Given the description of an element on the screen output the (x, y) to click on. 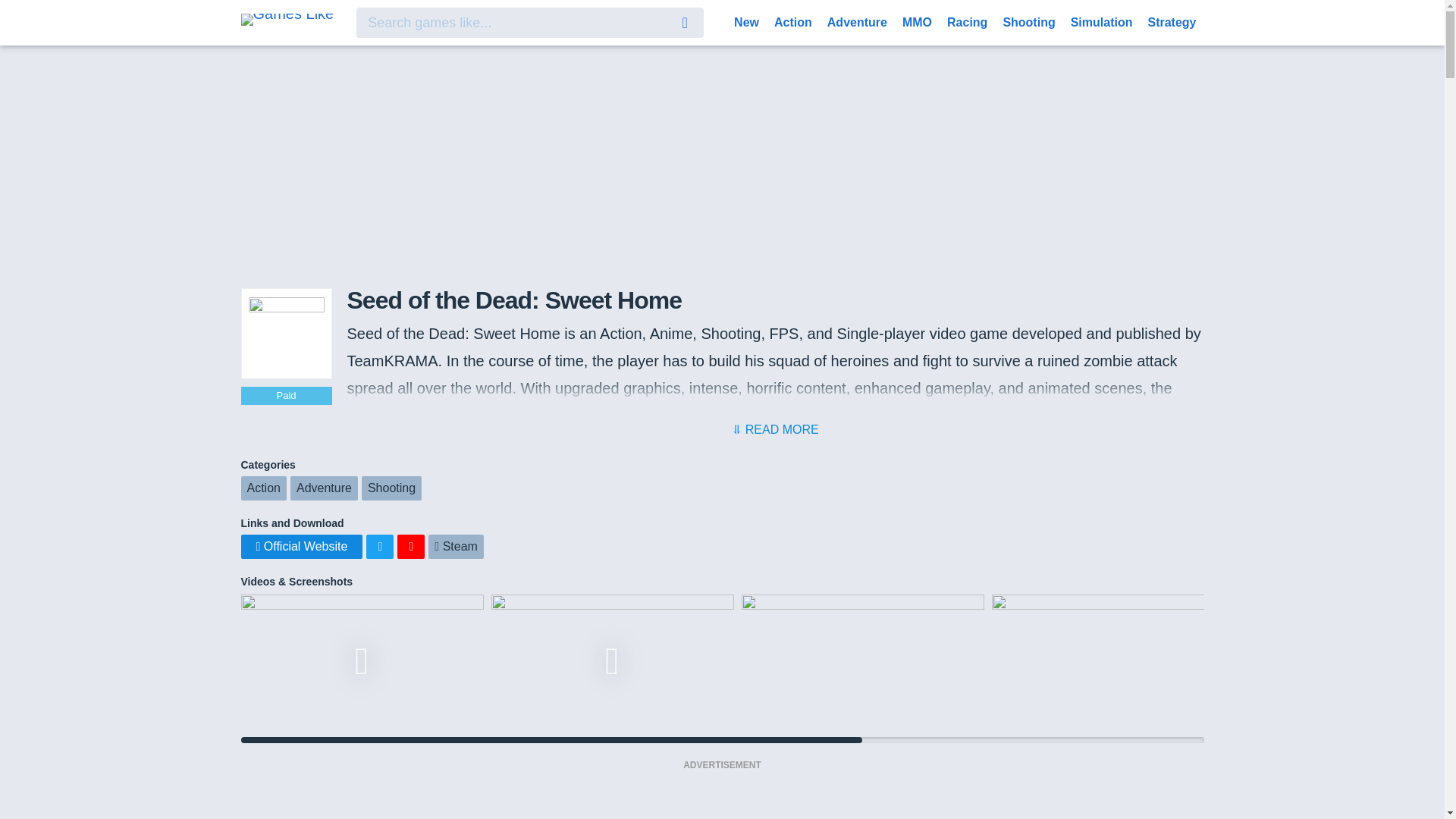
Strategy (1172, 21)
Steam (455, 546)
Action (793, 21)
Steam (455, 546)
Shooting (1028, 21)
Adventure (323, 487)
Action (263, 487)
Shooting (391, 487)
New (746, 21)
MMO (917, 21)
